Given the description of an element on the screen output the (x, y) to click on. 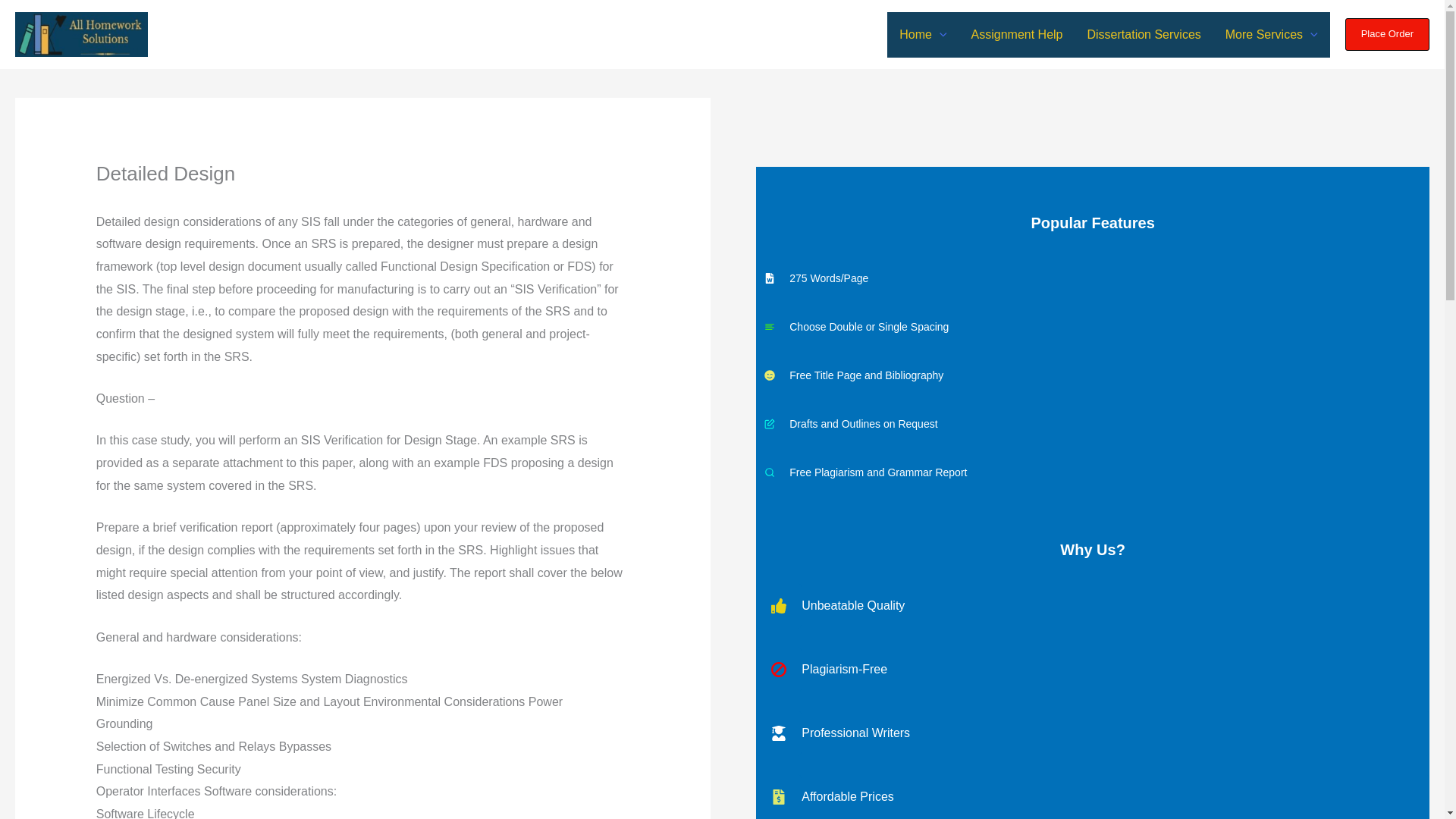
Place Order (1387, 33)
Professional Writers (1092, 732)
Assignment Help (1017, 34)
Affordable Prices (1092, 796)
Unbeatable Quality (1092, 605)
Plagiarism-Free (1092, 669)
Home (922, 34)
Dissertation Services (1143, 34)
More Services (1271, 34)
